Given the description of an element on the screen output the (x, y) to click on. 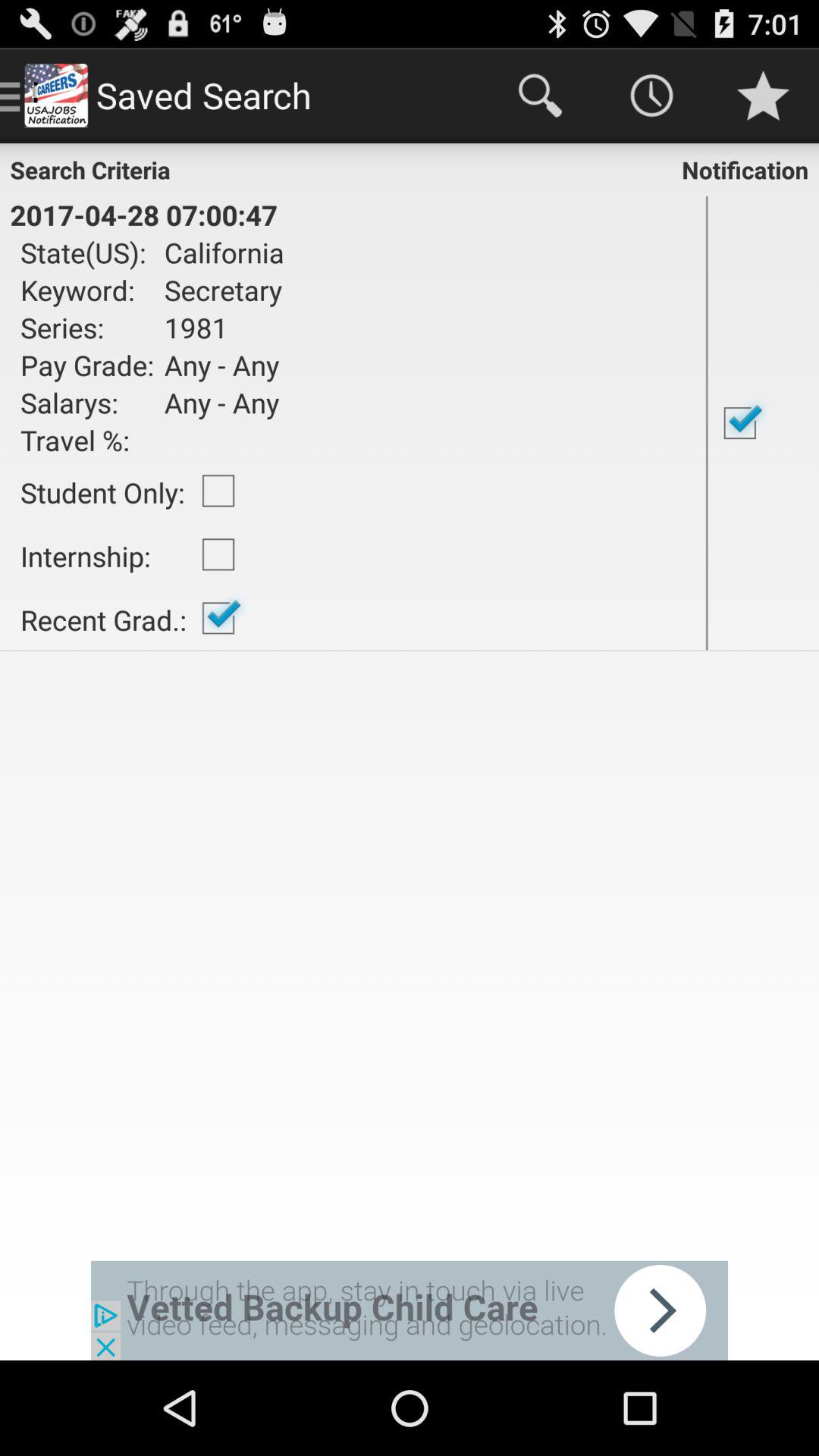
scroll until the travel %: (87, 439)
